Given the description of an element on the screen output the (x, y) to click on. 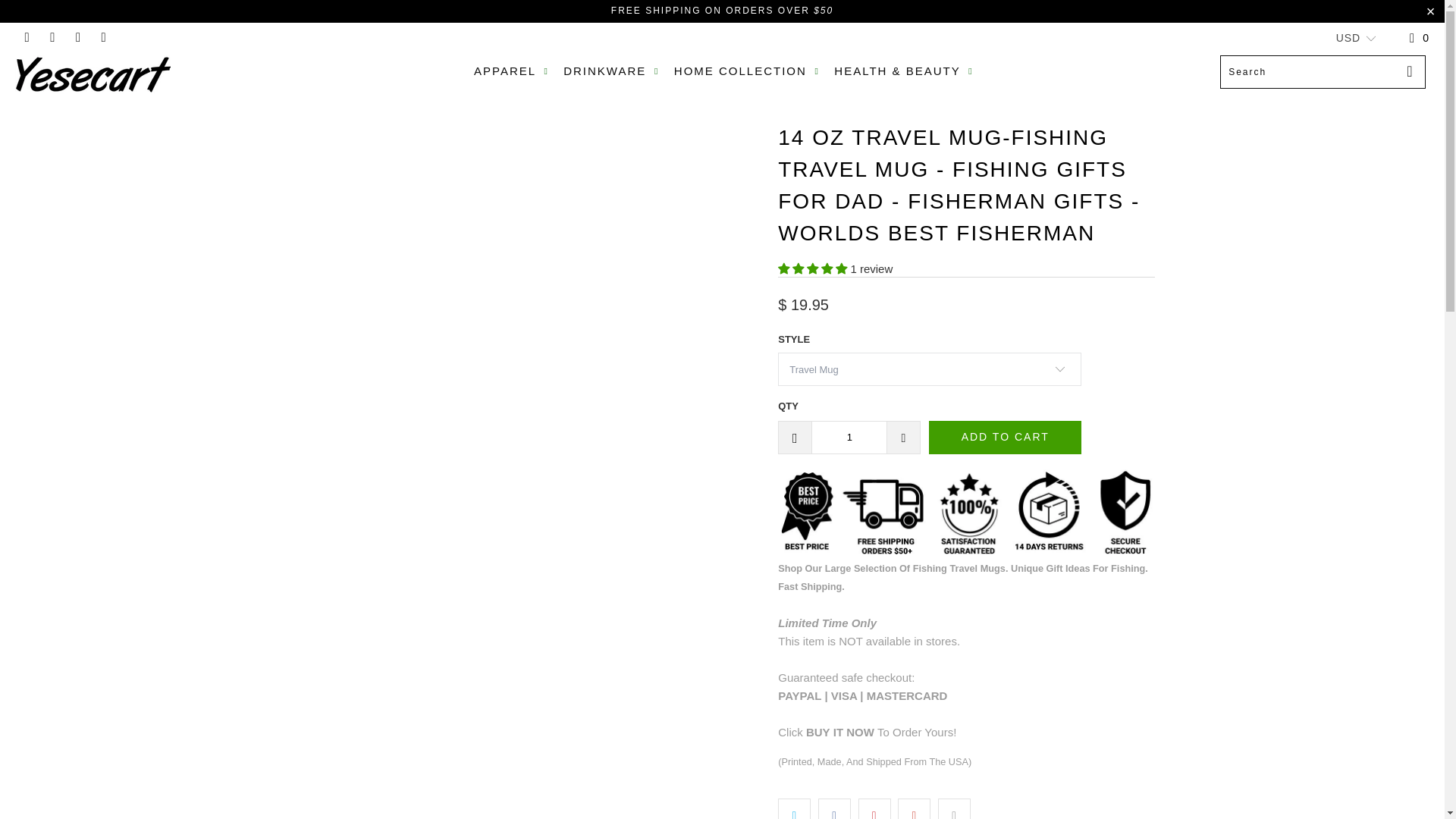
Share this on Twitter (793, 808)
Share this on Pinterest (875, 808)
YesECart on Instagram (76, 37)
YesECart on Pinterest (52, 37)
1 (848, 436)
YesECart (122, 74)
Share this on Facebook (834, 808)
YesECart on Facebook (25, 37)
Email this to a friend (954, 808)
Email YesECart (103, 37)
